Given the description of an element on the screen output the (x, y) to click on. 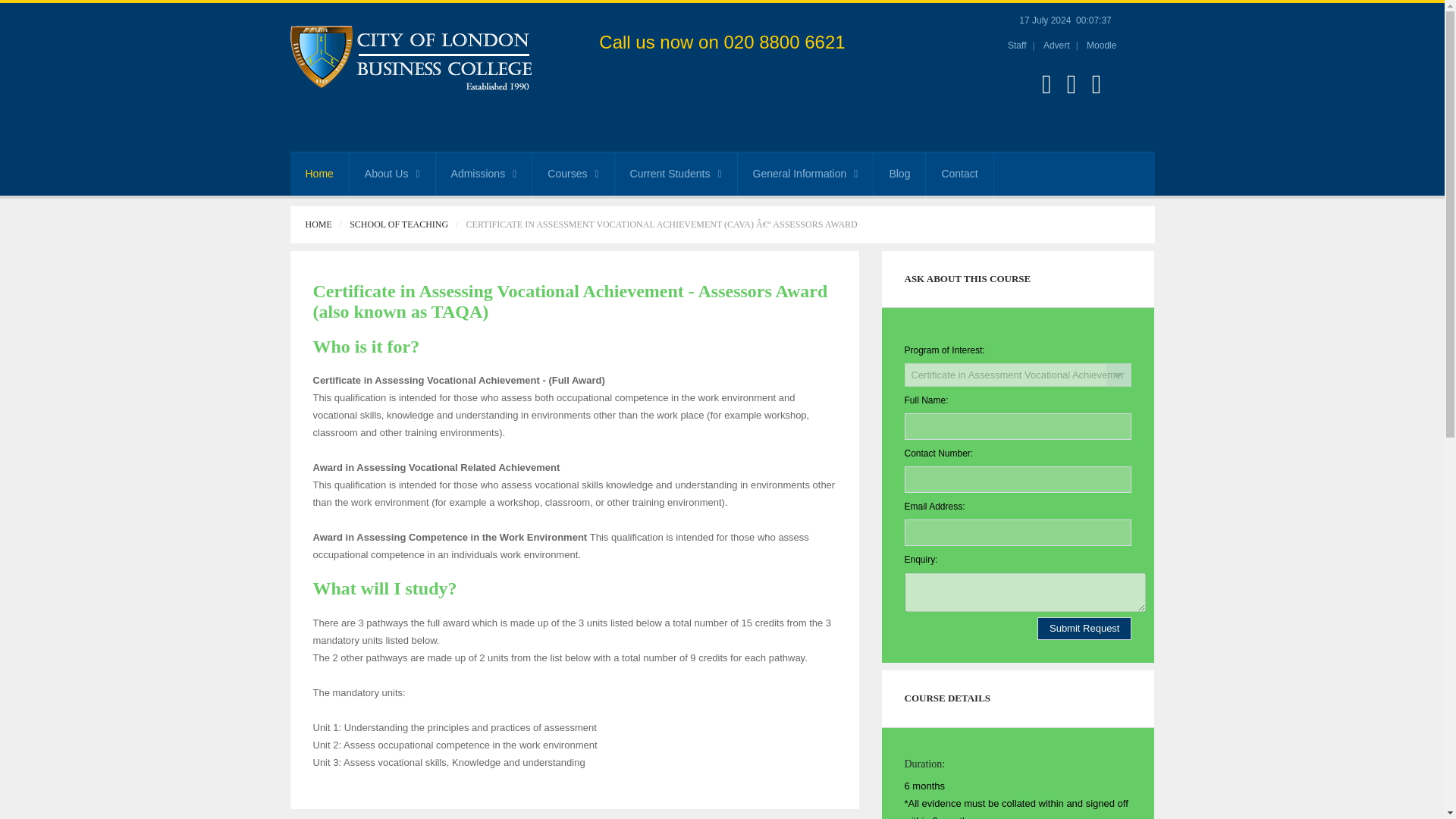
Submit Request (1084, 628)
City Of London Business College (426, 57)
